Given the description of an element on the screen output the (x, y) to click on. 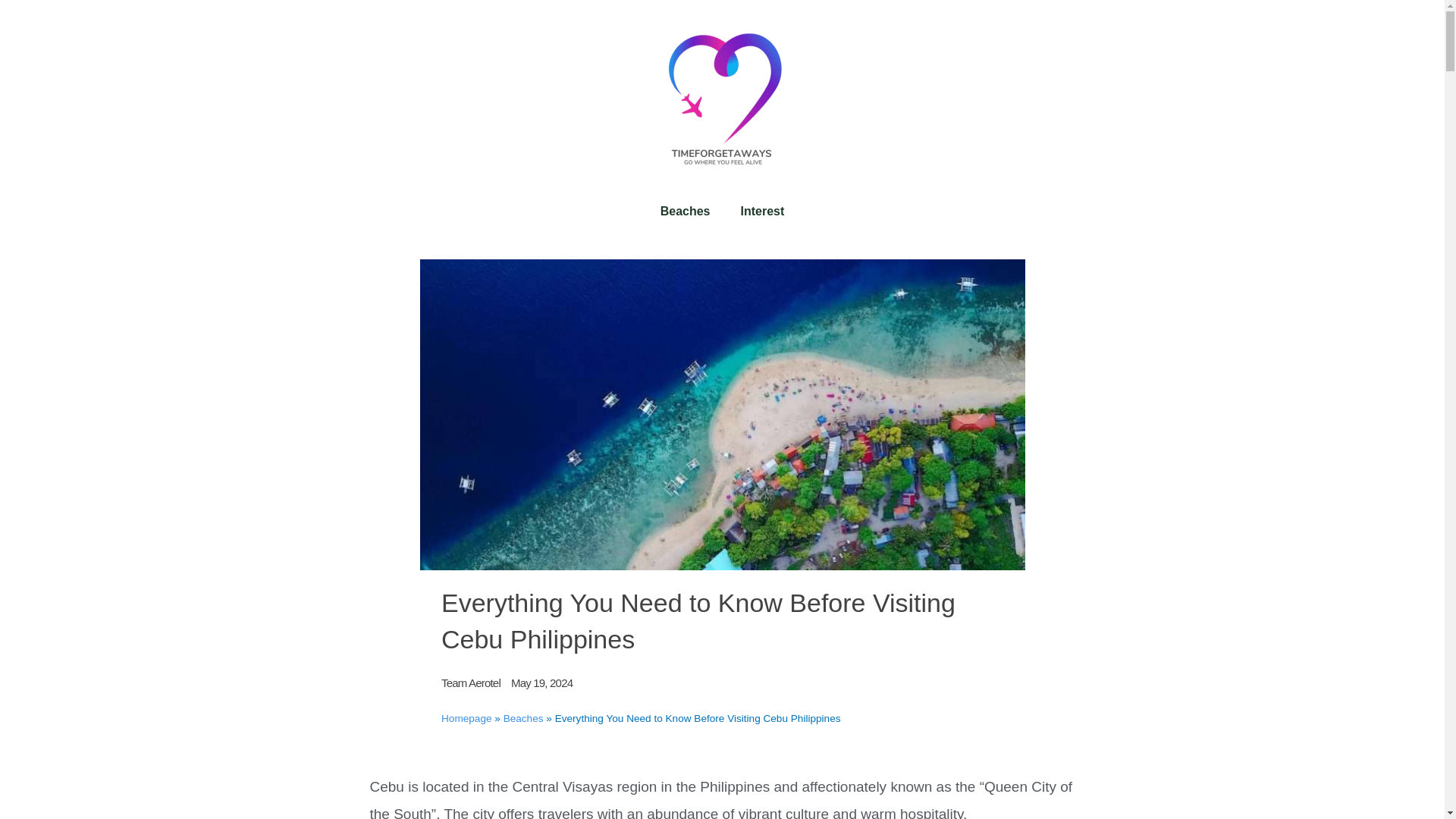
Beaches (523, 717)
Beaches (685, 211)
Interest (762, 211)
Homepage (466, 717)
